Given the description of an element on the screen output the (x, y) to click on. 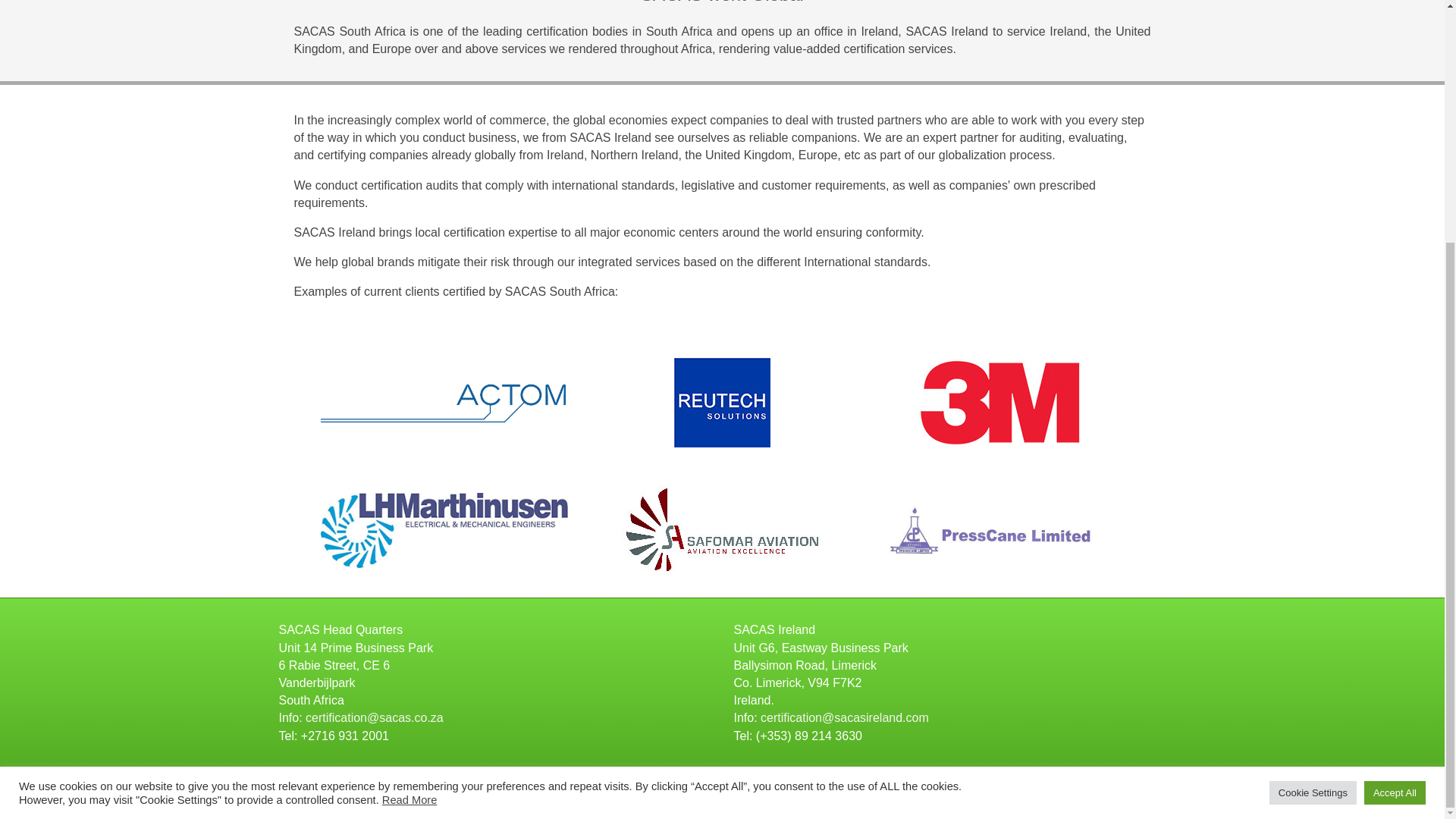
Reutech (722, 402)
3M (1000, 402)
LHM-LOGO (443, 530)
Actom (443, 402)
Website Design Vaal Triangle (1089, 796)
Safomar (721, 529)
Web Design Vaal Triangle (1144, 796)
Presscrane (1000, 530)
